Given the description of an element on the screen output the (x, y) to click on. 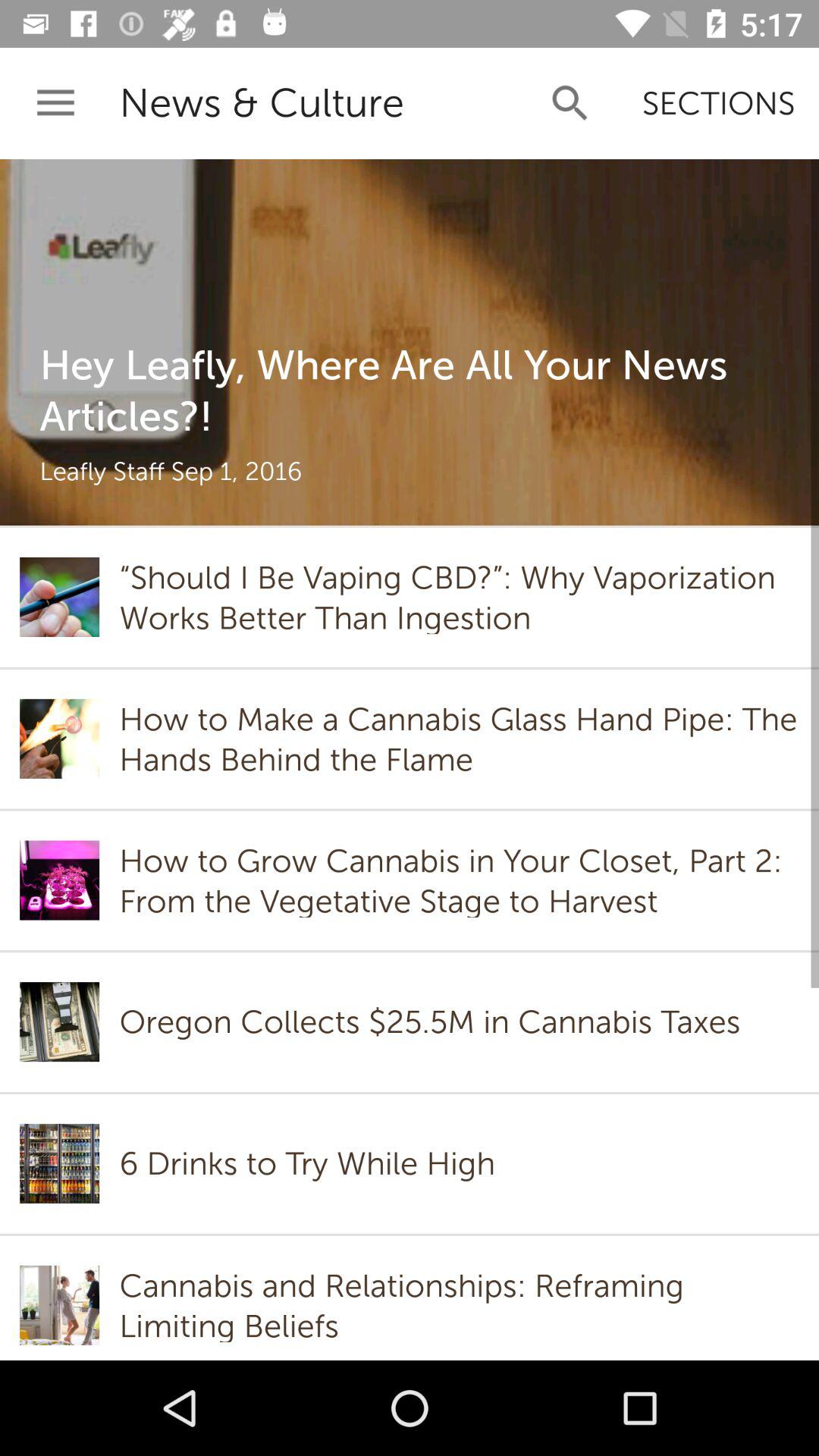
turn off app next to news & culture icon (570, 103)
